Given the description of an element on the screen output the (x, y) to click on. 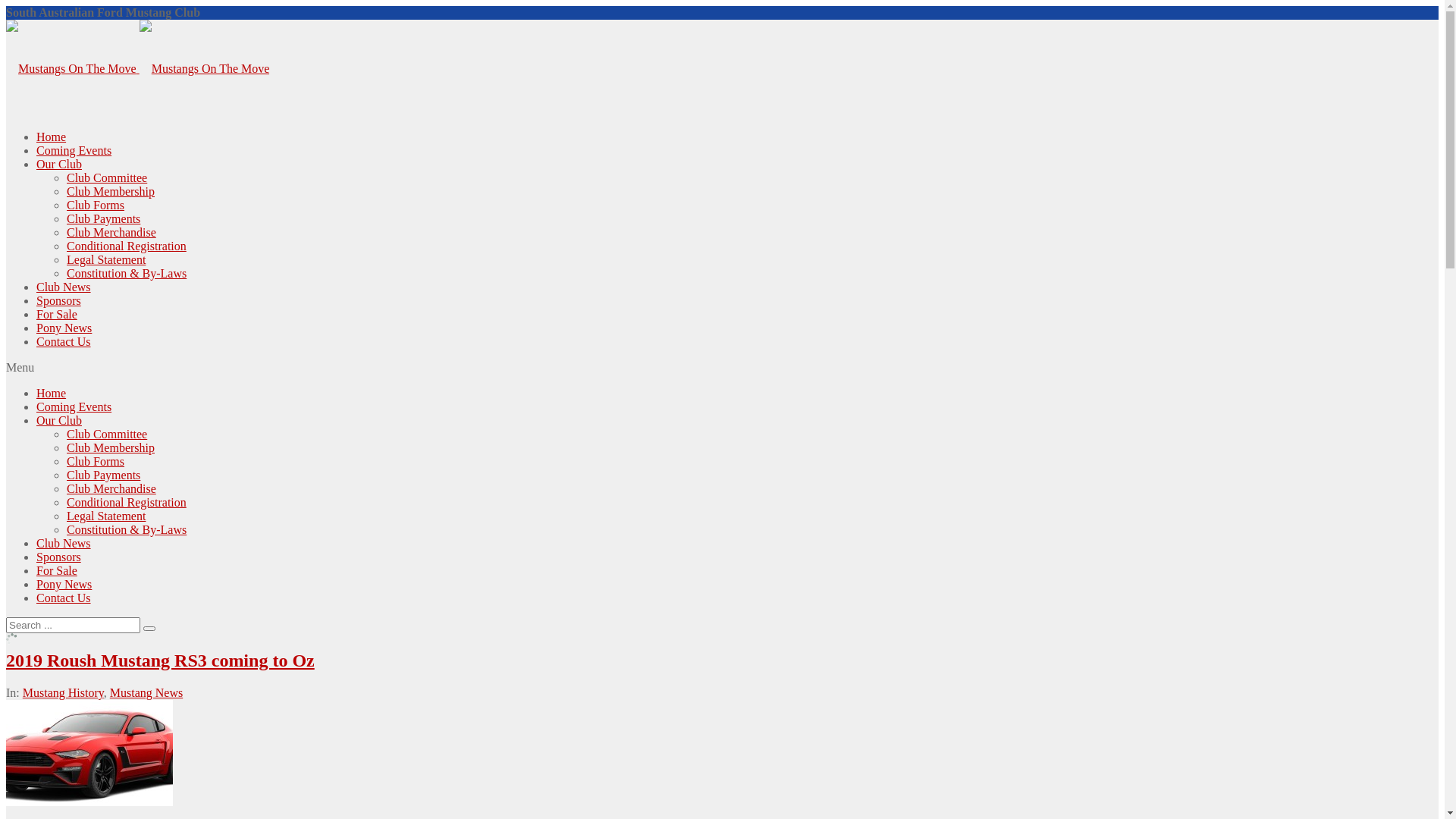
Legal Statement Element type: text (105, 259)
Club News Element type: text (63, 286)
Club Payments Element type: text (103, 218)
Legal Statement Element type: text (105, 515)
Club Merchandise Element type: text (111, 231)
Pony News Element type: text (63, 583)
For Sale Element type: text (56, 313)
Club Membership Element type: text (110, 447)
Mustang History Element type: text (62, 692)
Club Merchandise Element type: text (111, 488)
Coming Events Element type: text (73, 150)
Contact Us Element type: text (63, 341)
Club Forms Element type: text (95, 204)
Pony News Element type: text (63, 327)
Sponsors Element type: text (58, 300)
For Sale Element type: text (56, 570)
2019 Roush Mustang RS3 coming to Oz Element type: text (160, 660)
Our Club Element type: text (58, 420)
Constitution & By-Laws Element type: text (126, 529)
Club Committee Element type: text (106, 433)
Sponsors Element type: text (58, 556)
Club Membership Element type: text (110, 191)
Constitution & By-Laws Element type: text (126, 272)
Our Club Element type: text (58, 163)
Conditional Registration Element type: text (126, 501)
Contact Us Element type: text (63, 597)
Conditional Registration Element type: text (126, 245)
Home Element type: text (50, 136)
Club News Element type: text (63, 542)
Coming Events Element type: text (73, 406)
Club Committee Element type: text (106, 177)
Club Forms Element type: text (95, 461)
Home Element type: text (50, 392)
Mustang News Element type: text (145, 692)
Club Payments Element type: text (103, 474)
